Given the description of an element on the screen output the (x, y) to click on. 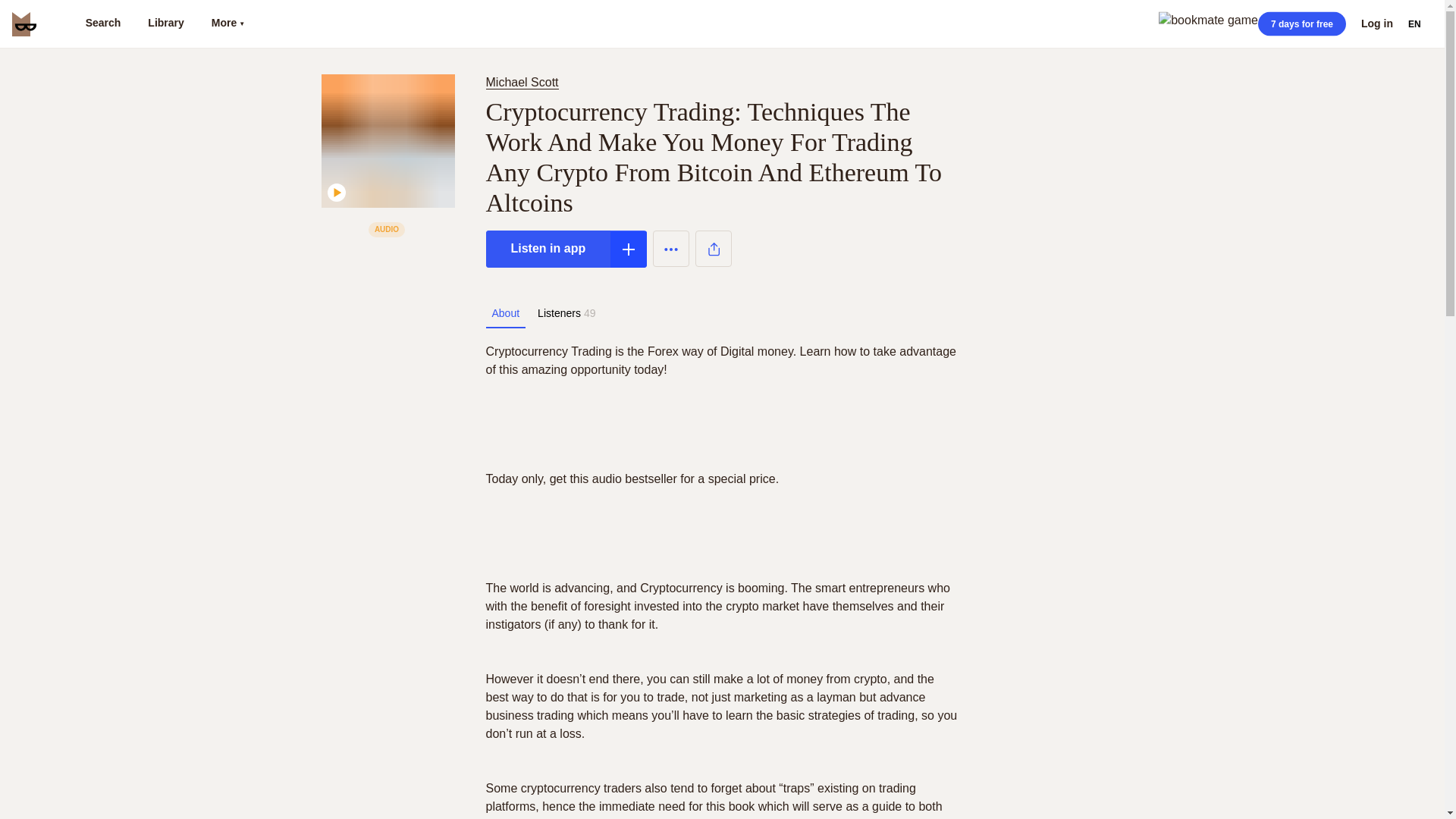
About (504, 313)
7 days for free (1301, 23)
Michael Scott (520, 82)
Michael Scott (524, 82)
